Given the description of an element on the screen output the (x, y) to click on. 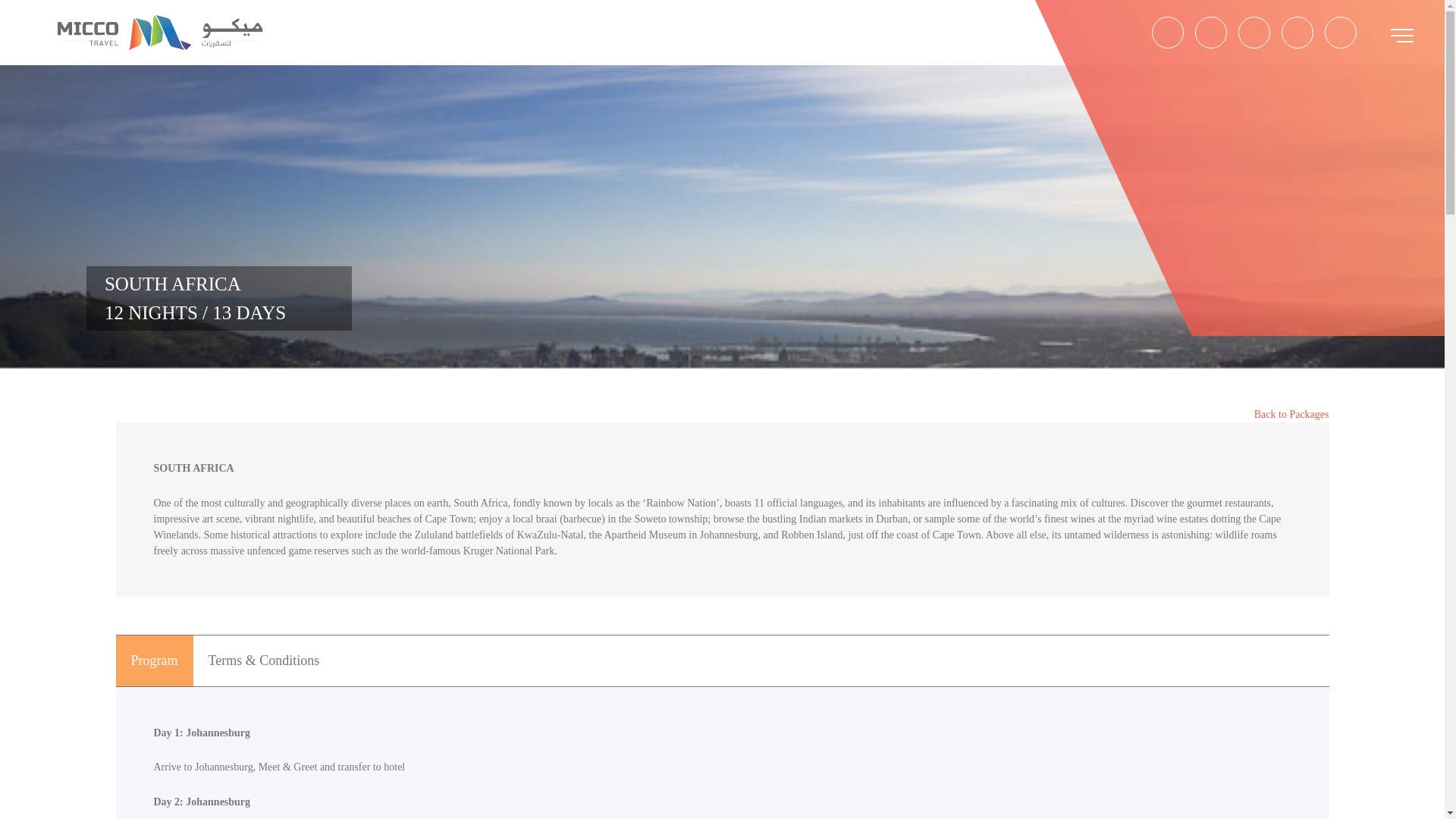
Back to Packages (1291, 414)
Program (153, 660)
